Given the description of an element on the screen output the (x, y) to click on. 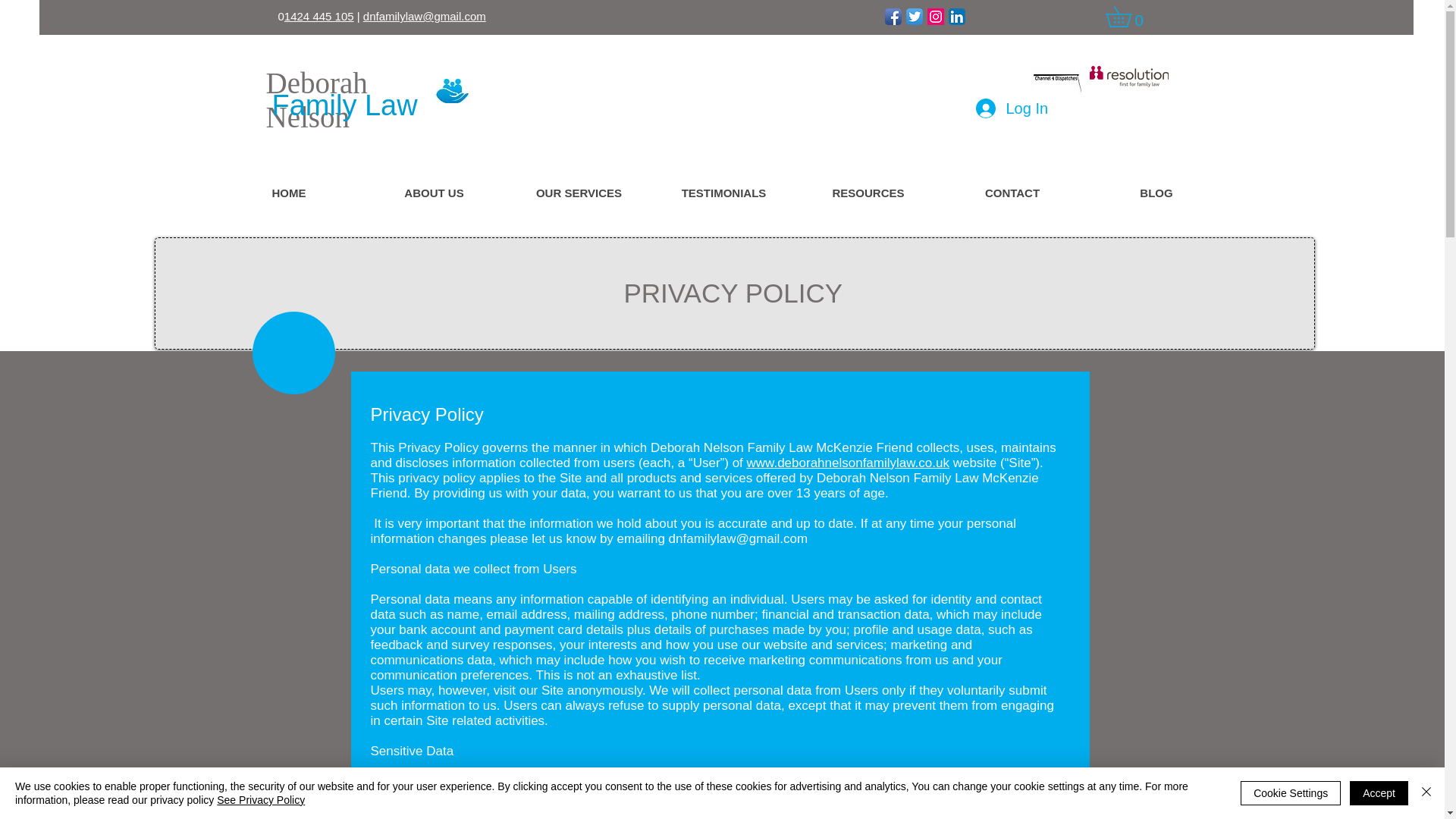
BLOG (1156, 192)
www.deborahnelsonfamilylaw.co.uk (847, 462)
HOME (288, 192)
0 (1128, 16)
Deborah  Nelson (319, 99)
Family Law (343, 105)
0 (1128, 16)
Log In (1009, 108)
TESTIMONIALS (722, 192)
1424 445 105 (318, 15)
